Given the description of an element on the screen output the (x, y) to click on. 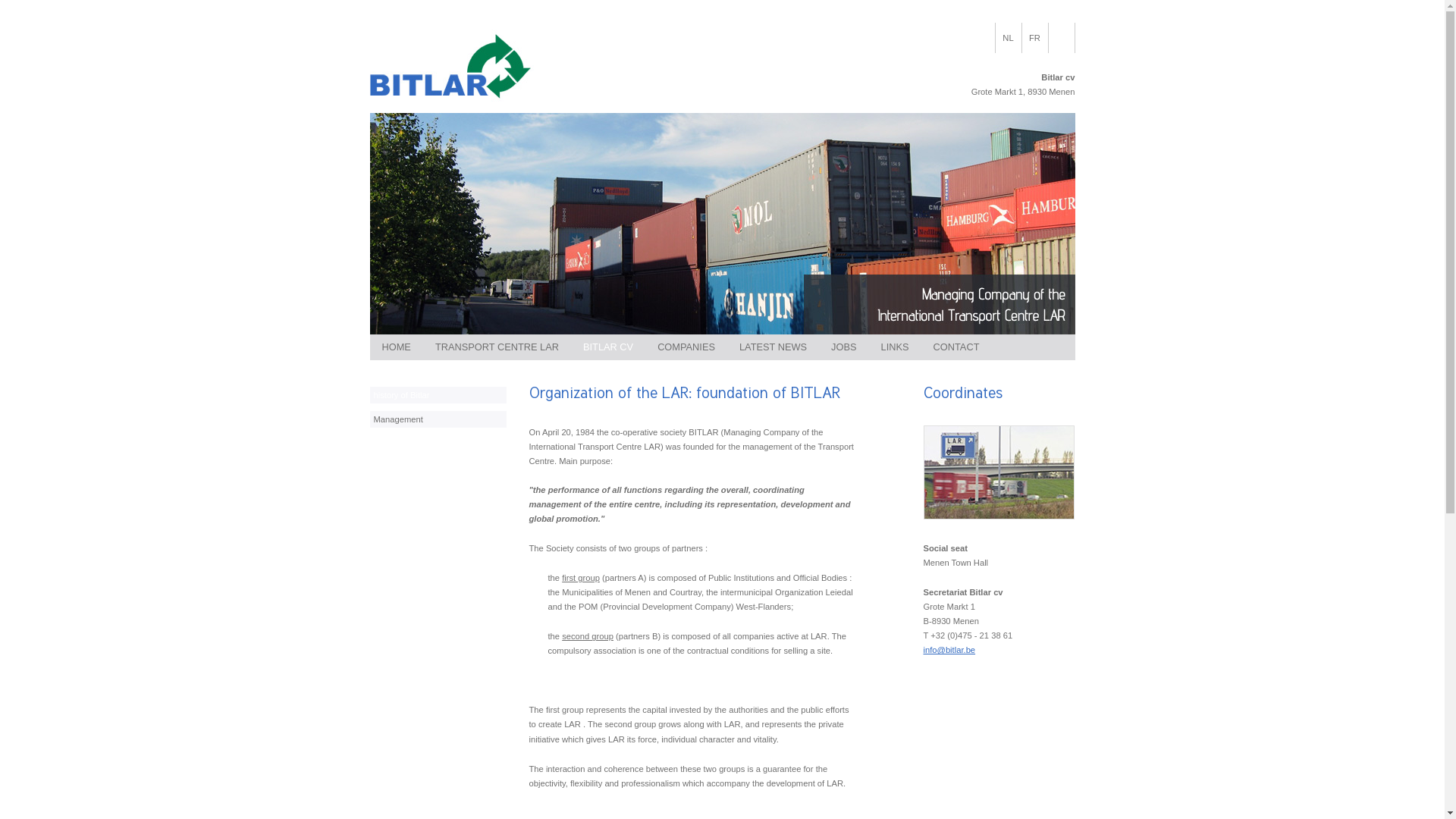
HOME Element type: text (396, 347)
NL Element type: text (1007, 37)
EN Element type: text (1060, 37)
BITLAR CV Element type: text (608, 347)
Management Element type: text (438, 419)
CONTACT Element type: text (956, 347)
TRANSPORT CENTRE LAR Element type: text (497, 347)
homepage Bitlar cv Element type: hover (514, 105)
JOBS Element type: text (843, 347)
history of Bitlar Element type: text (438, 394)
LINKS Element type: text (895, 347)
FR Element type: text (1035, 37)
info@bitlar.be Element type: text (949, 649)
LATEST NEWS Element type: text (773, 347)
COMPANIES Element type: text (686, 347)
